Given the description of an element on the screen output the (x, y) to click on. 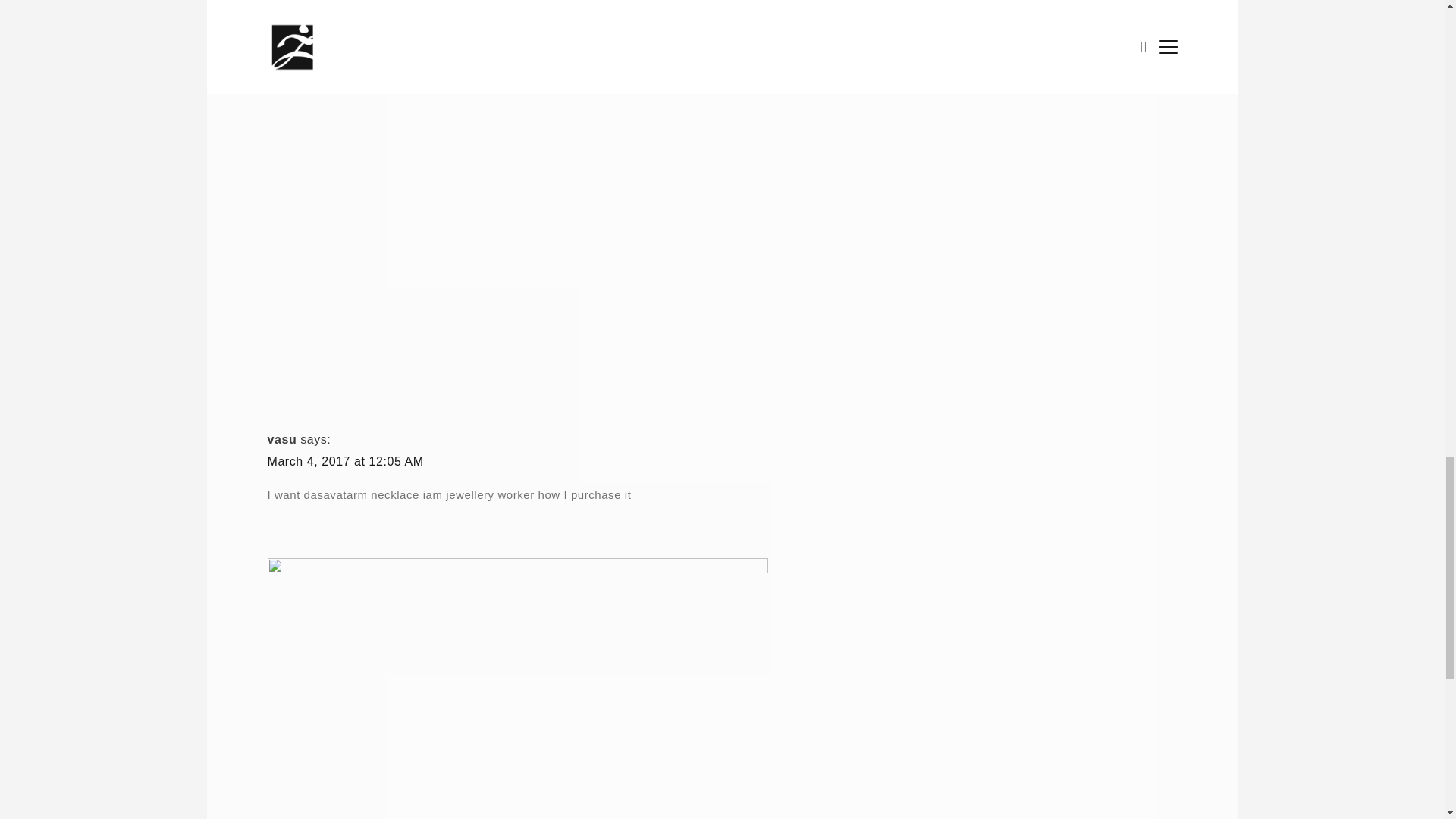
March 4, 2017 at 12:05 AM (344, 461)
